Given the description of an element on the screen output the (x, y) to click on. 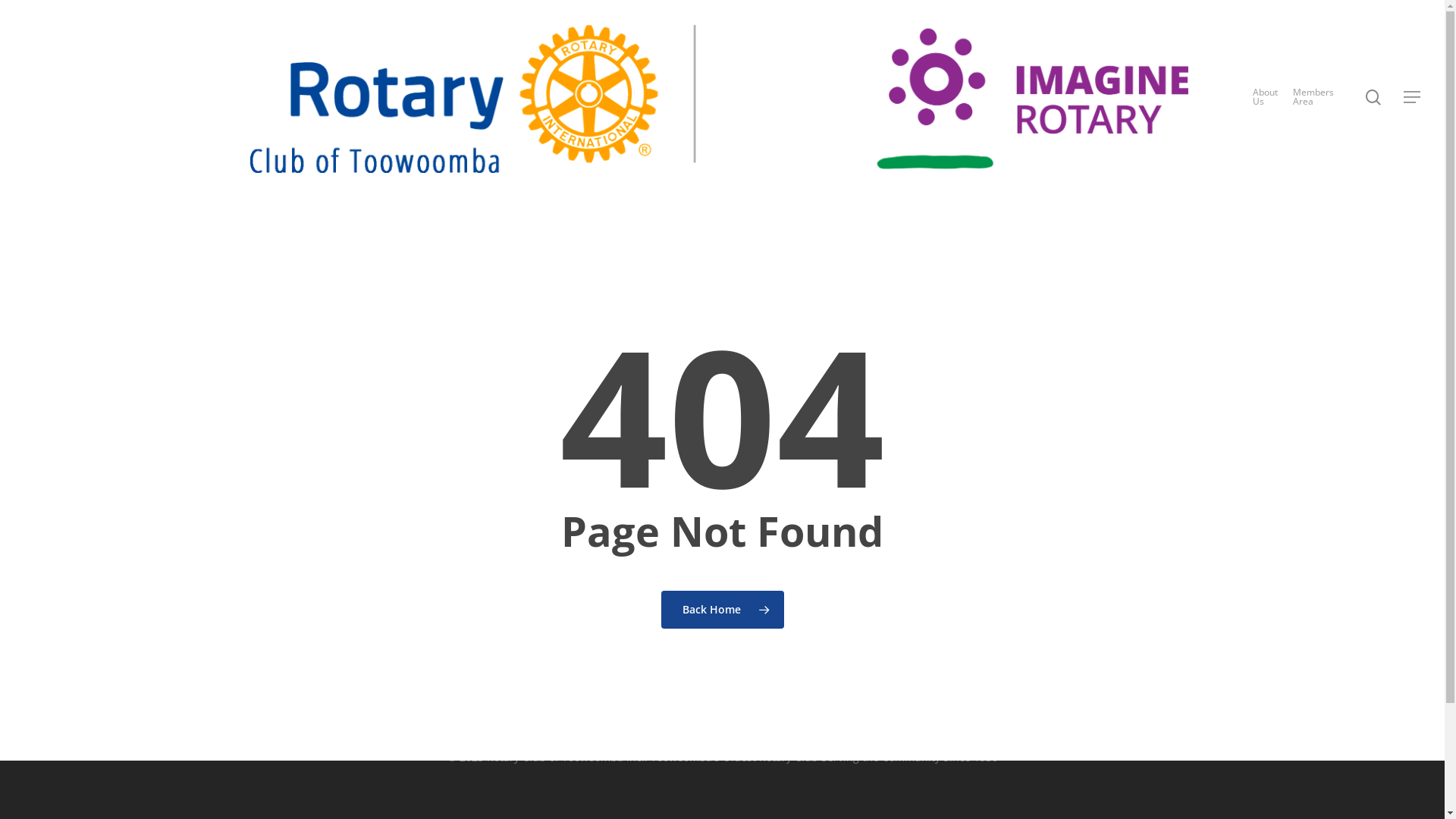
Back Home Element type: text (722, 608)
Menu Element type: text (1412, 97)
search Element type: text (1373, 97)
About Us Element type: text (1264, 96)
facebook Element type: text (695, 709)
instagram Element type: text (748, 709)
Members Area Element type: text (1312, 96)
